Given the description of an element on the screen output the (x, y) to click on. 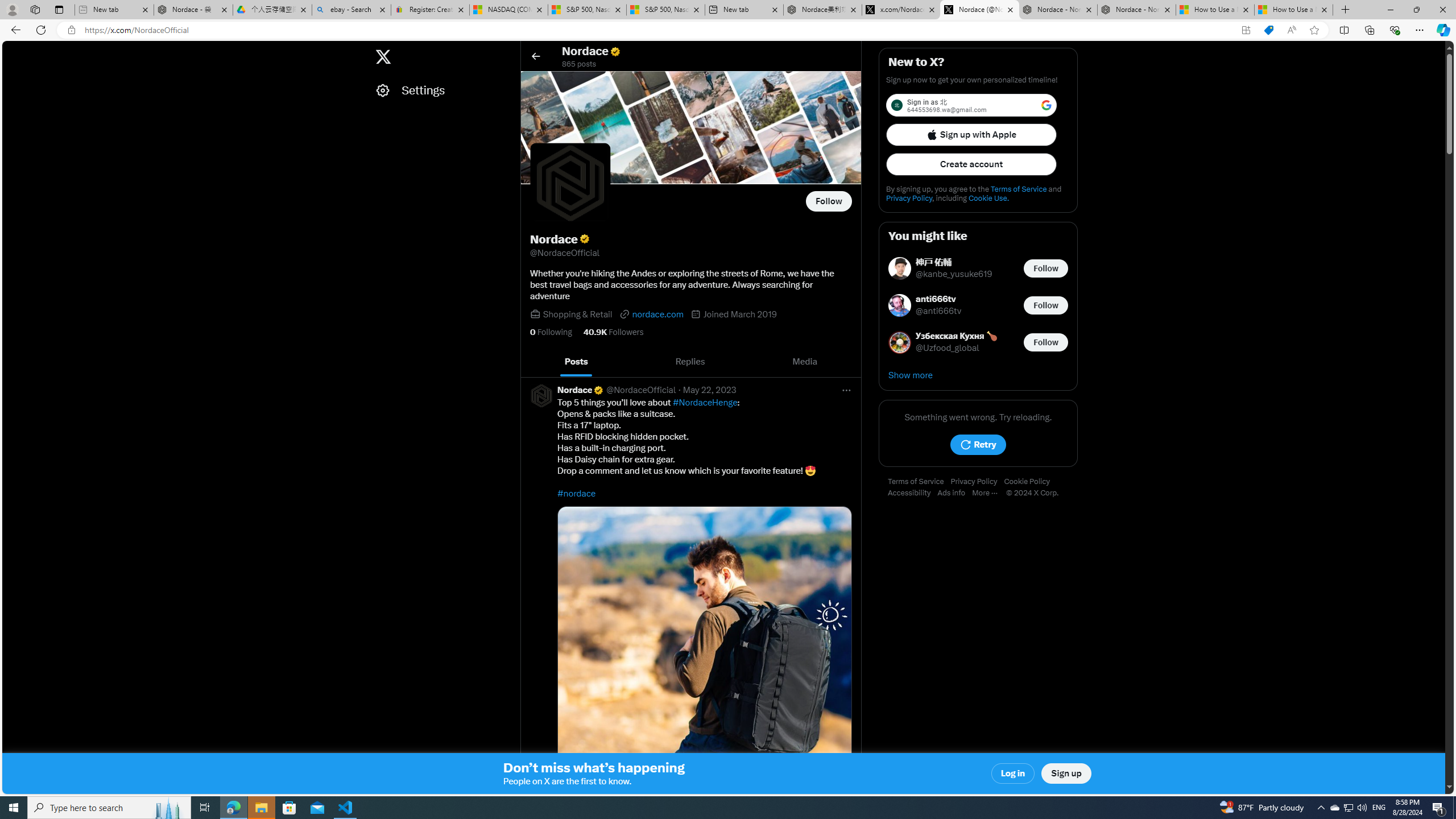
Show more (978, 375)
Square profile picture and Opens profile photo (569, 182)
#NordaceHenge (705, 402)
Log in (1013, 773)
Ads info (954, 492)
Image (704, 653)
Previous (532, 361)
0 Following (550, 331)
